Given the description of an element on the screen output the (x, y) to click on. 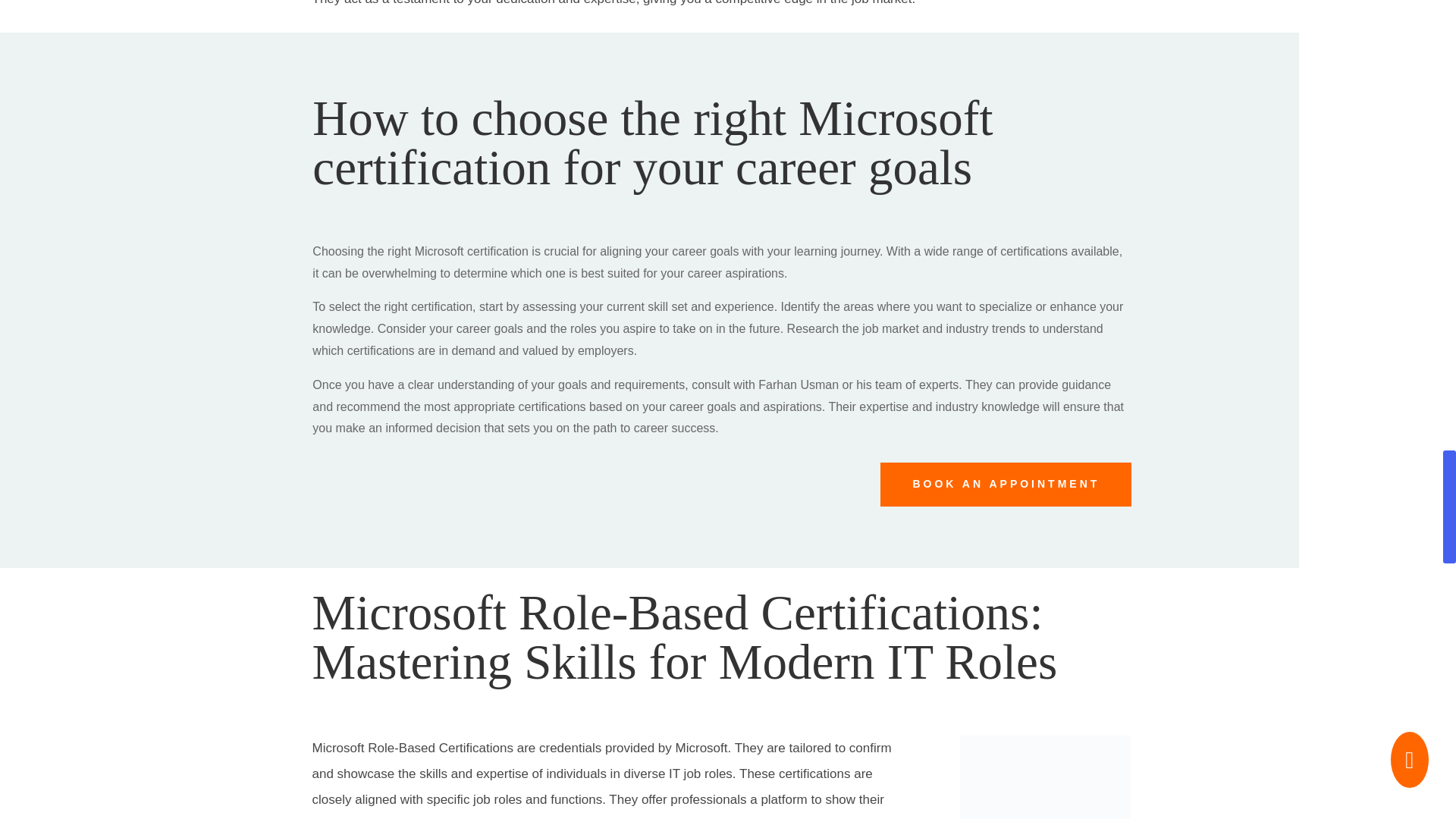
BOOK AN APPOINTMENT (1005, 484)
